Given the description of an element on the screen output the (x, y) to click on. 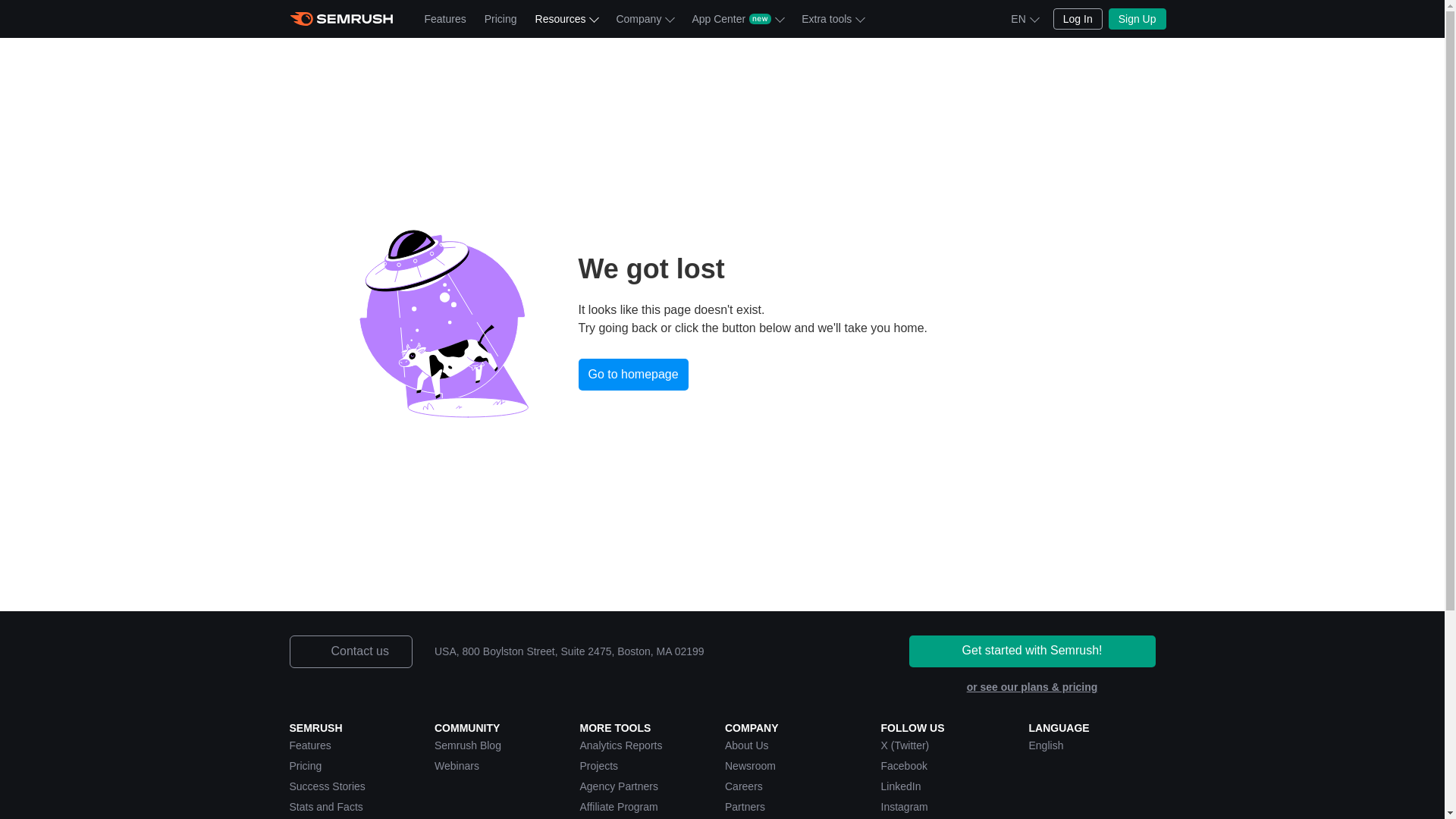
Pricing (500, 18)
Resources (566, 18)
Company (644, 18)
App Center (737, 18)
Extra tools (832, 18)
Features (445, 18)
